Given the description of an element on the screen output the (x, y) to click on. 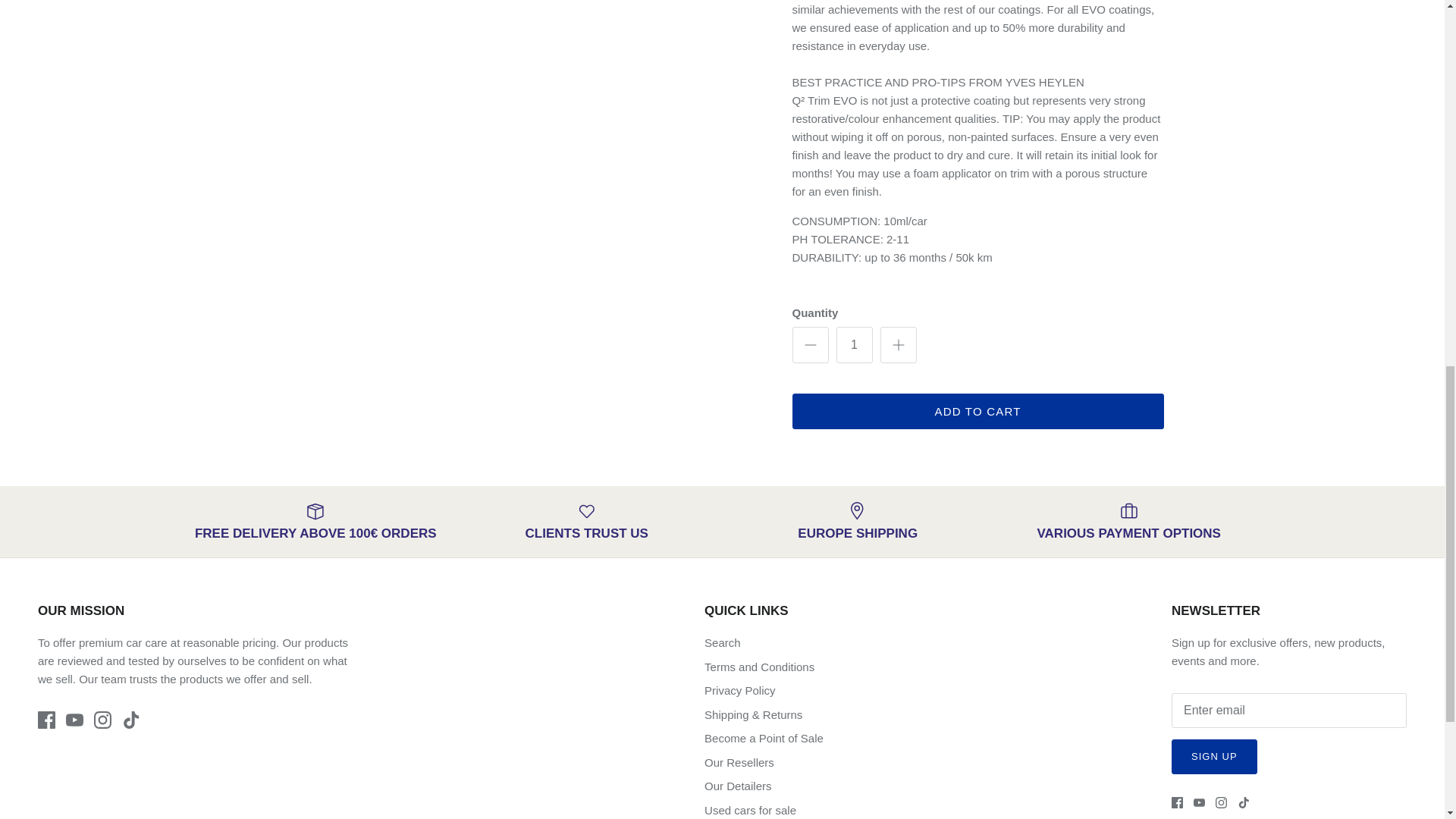
Facebook (1177, 802)
Minus (809, 344)
Instagram (103, 719)
Youtube (73, 719)
Facebook (46, 719)
Plus (897, 344)
1 (853, 344)
